Given the description of an element on the screen output the (x, y) to click on. 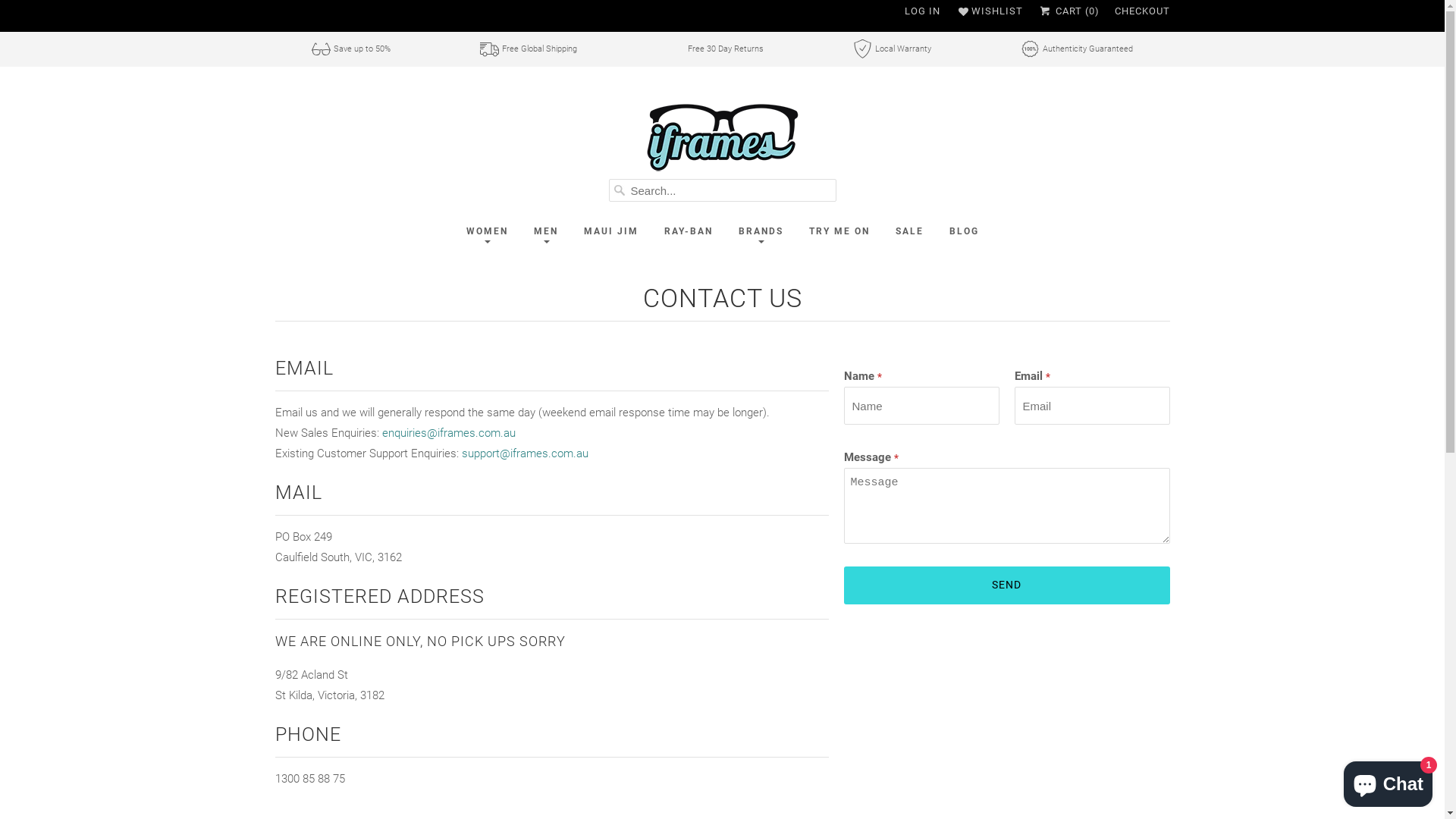
WOMEN Element type: text (487, 231)
enquiries@iframes.com.au Element type: text (448, 432)
MAUI JIM Element type: text (610, 231)
CART (0) Element type: text (1068, 11)
Save up to 50% Element type: text (350, 48)
RAY-BAN Element type: text (687, 231)
TRY ME ON Element type: text (839, 231)
LOG IN Element type: text (922, 11)
Authenticity Guaranteed Element type: text (1076, 48)
Free 30 Day Returns Element type: text (714, 48)
support@iframes.com.au Element type: text (524, 453)
Local Warranty Element type: text (891, 48)
Shopify online store chat Element type: hover (1388, 780)
CHECKOUT Element type: text (1142, 11)
Send Element type: text (1006, 585)
iframes Element type: hover (721, 138)
SALE Element type: text (909, 231)
BLOG Element type: text (963, 231)
MEN Element type: text (544, 231)
WISHLIST Element type: text (988, 11)
Free Global Shipping Element type: text (528, 48)
BRANDS Element type: text (759, 231)
